Given the description of an element on the screen output the (x, y) to click on. 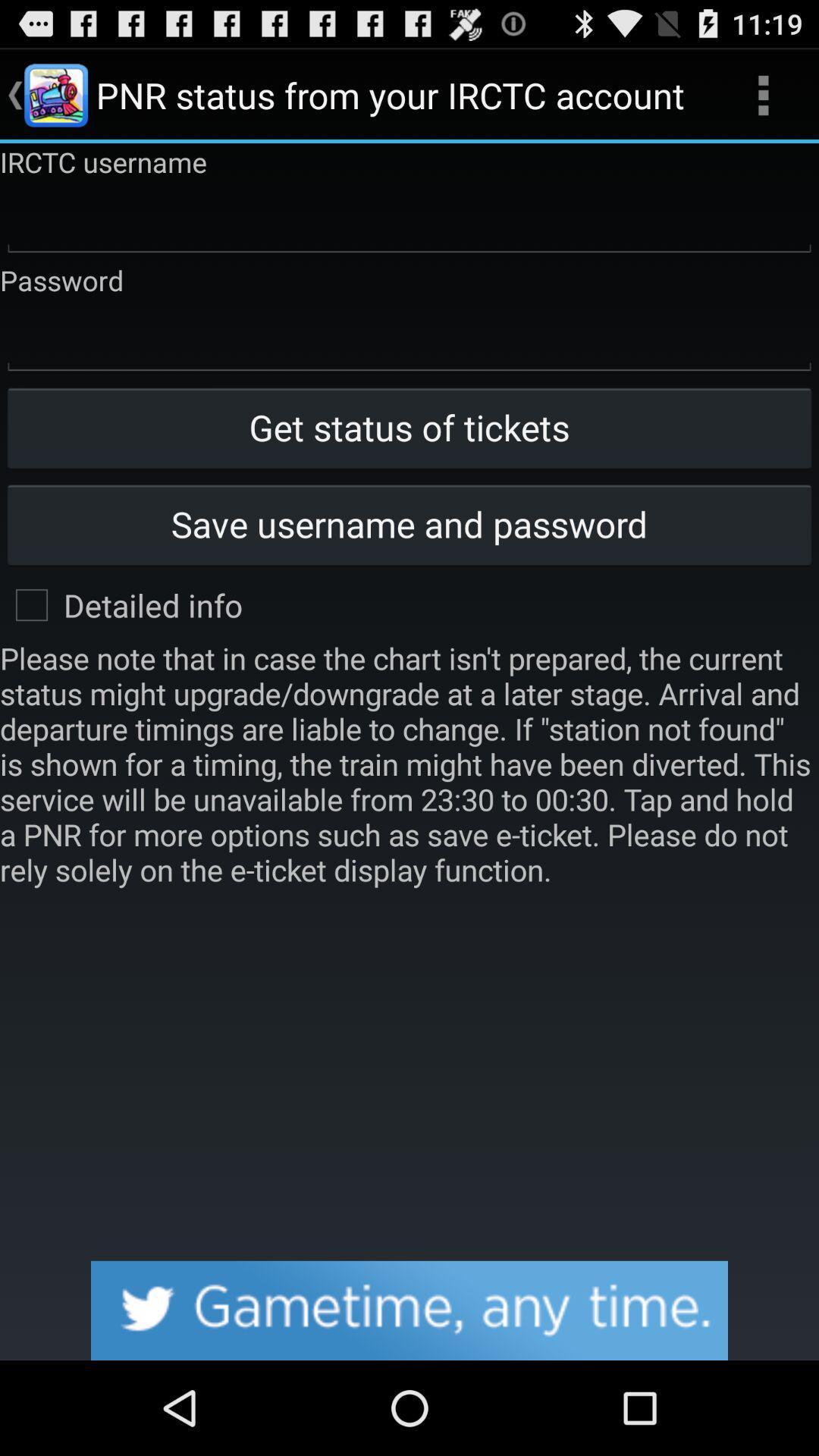
know about the advetisement (409, 1310)
